Given the description of an element on the screen output the (x, y) to click on. 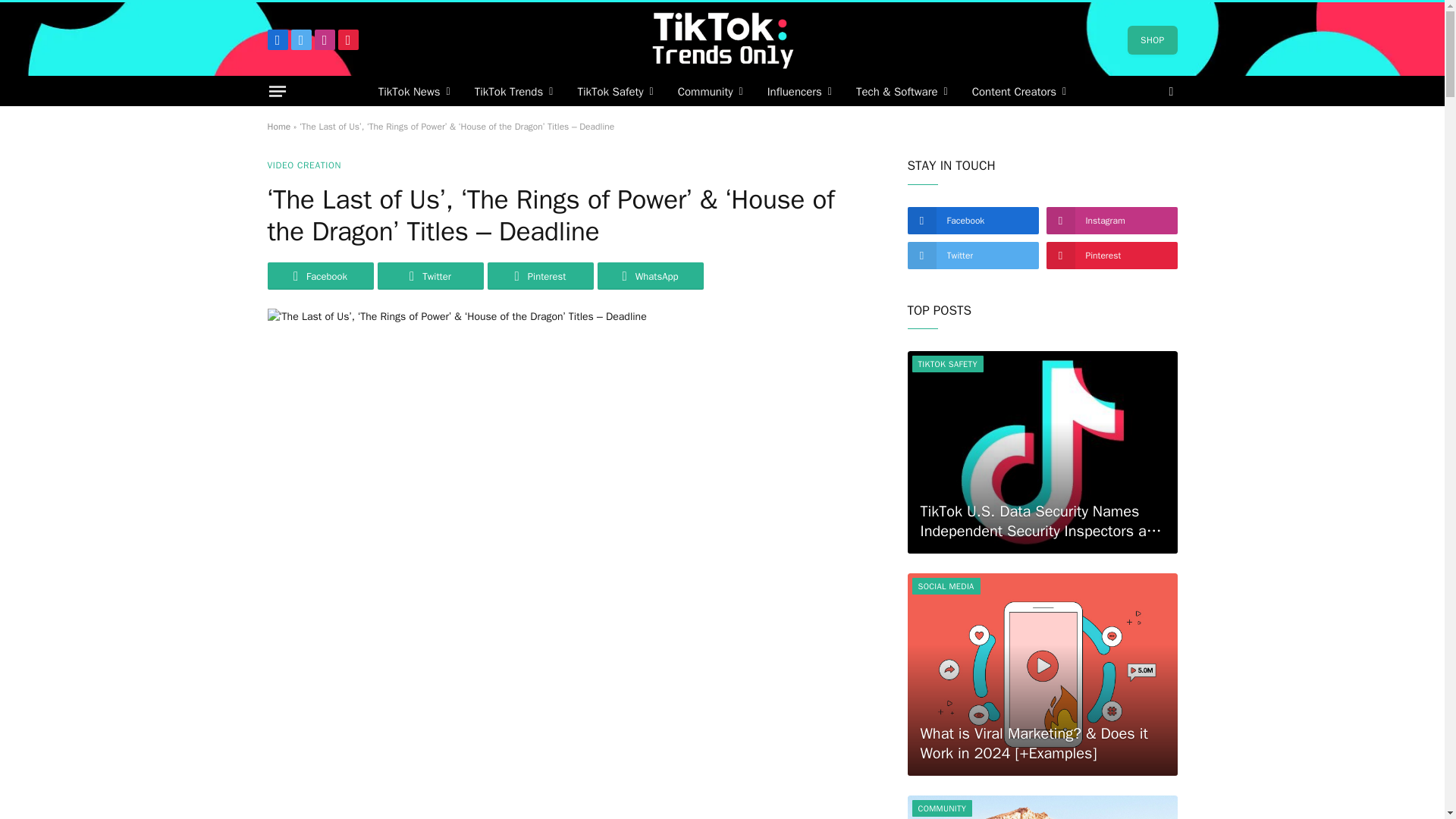
SHOP (1151, 39)
TikTok News (414, 91)
Instagram (324, 39)
Facebook (276, 39)
Pinterest (347, 39)
TikTok Trends Only (721, 39)
TikTok Trends (514, 91)
